Given the description of an element on the screen output the (x, y) to click on. 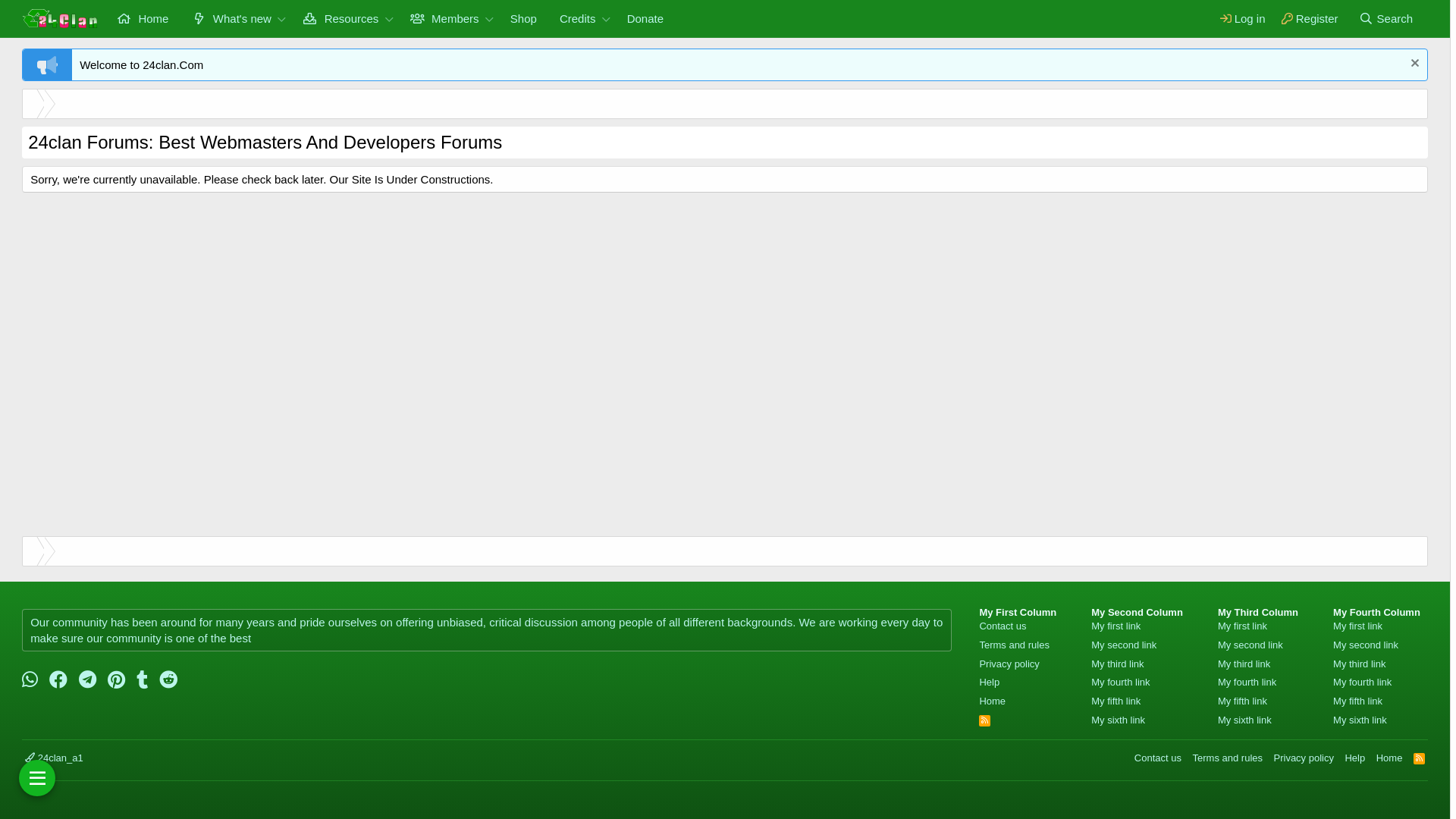
Privacy policy Element type: text (1008, 663)
Home Element type: text (29, 103)
My fourth link Element type: text (1246, 681)
My fourth link Element type: text (1120, 681)
My sixth link Element type: text (1359, 719)
My second link Element type: text (1123, 644)
Home Element type: text (992, 700)
Chinese Element type: hover (1308, 54)
Home Element type: text (29, 550)
Help Element type: text (1354, 757)
Donate Element type: text (644, 18)
Turkish Element type: hover (1399, 54)
Terms and rules Element type: text (1227, 757)
Resources Element type: text (335, 18)
Contact us Element type: text (1157, 757)
My sixth link Element type: text (1244, 719)
My first link Element type: text (1115, 625)
Home Element type: text (1389, 757)
My third link Element type: text (1117, 663)
My second link Element type: text (1365, 644)
English Element type: hover (1326, 54)
Privacy policy Element type: text (1303, 757)
Search Element type: text (1385, 18)
Members Element type: text (439, 18)
Register Element type: text (1309, 18)
Terms and rules Element type: text (1013, 644)
My fifth link Element type: text (1357, 700)
Shop Element type: text (523, 18)
My fifth link Element type: text (1242, 700)
My fifth link Element type: text (1115, 700)
My fourth link Element type: text (1362, 681)
My first link Element type: text (1242, 625)
French Element type: hover (1363, 54)
Credits Element type: text (572, 18)
My third link Element type: text (1359, 663)
Vietnamese Element type: hover (1417, 54)
My third link Element type: text (1243, 663)
Filipino Element type: hover (1344, 54)
What's new Element type: text (225, 18)
My first link Element type: text (1357, 625)
RSS Element type: text (984, 719)
My second link Element type: text (1250, 644)
Indonesian Element type: hover (1381, 54)
RSS Element type: text (1418, 757)
Home Element type: text (142, 18)
Arabic Element type: hover (1290, 54)
Help Element type: text (989, 681)
Contact us Element type: text (1002, 625)
My sixth link Element type: text (1118, 719)
24clan_a1 Element type: text (53, 757)
Log in Element type: text (1241, 18)
